Given the description of an element on the screen output the (x, y) to click on. 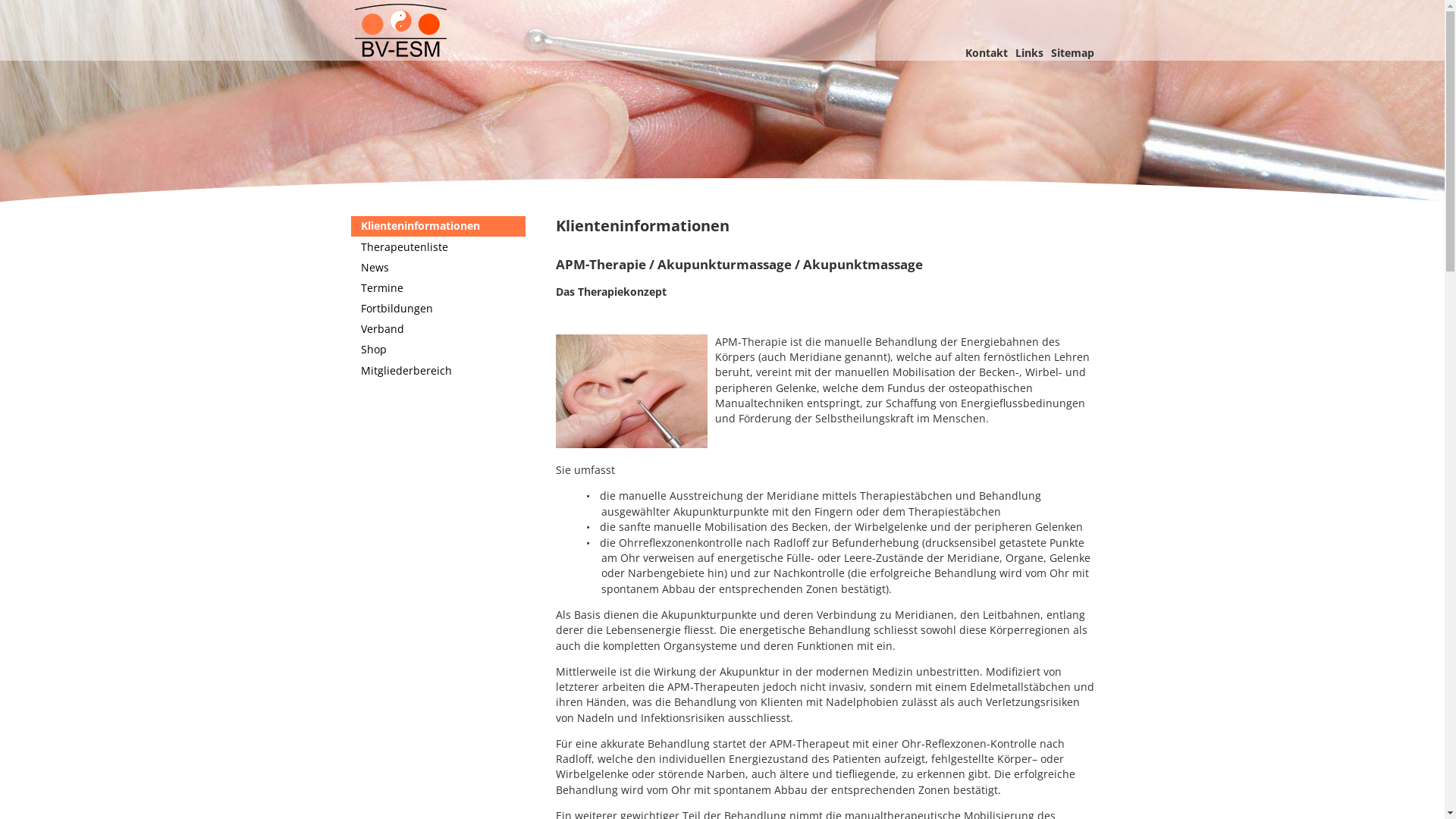
Sitemap Element type: text (1072, 52)
Shop Element type: text (437, 349)
Termine Element type: text (437, 288)
Kontakt Element type: text (985, 52)
Verband Element type: text (437, 329)
News Element type: text (437, 267)
Therapeutenliste Element type: text (437, 246)
APM-Therapie Element type: hover (722, 108)
Fortbildungen Element type: text (437, 308)
Klienteninformationen Element type: text (437, 226)
Mitgliederbereich Element type: text (437, 370)
Links Element type: text (1028, 52)
